Given the description of an element on the screen output the (x, y) to click on. 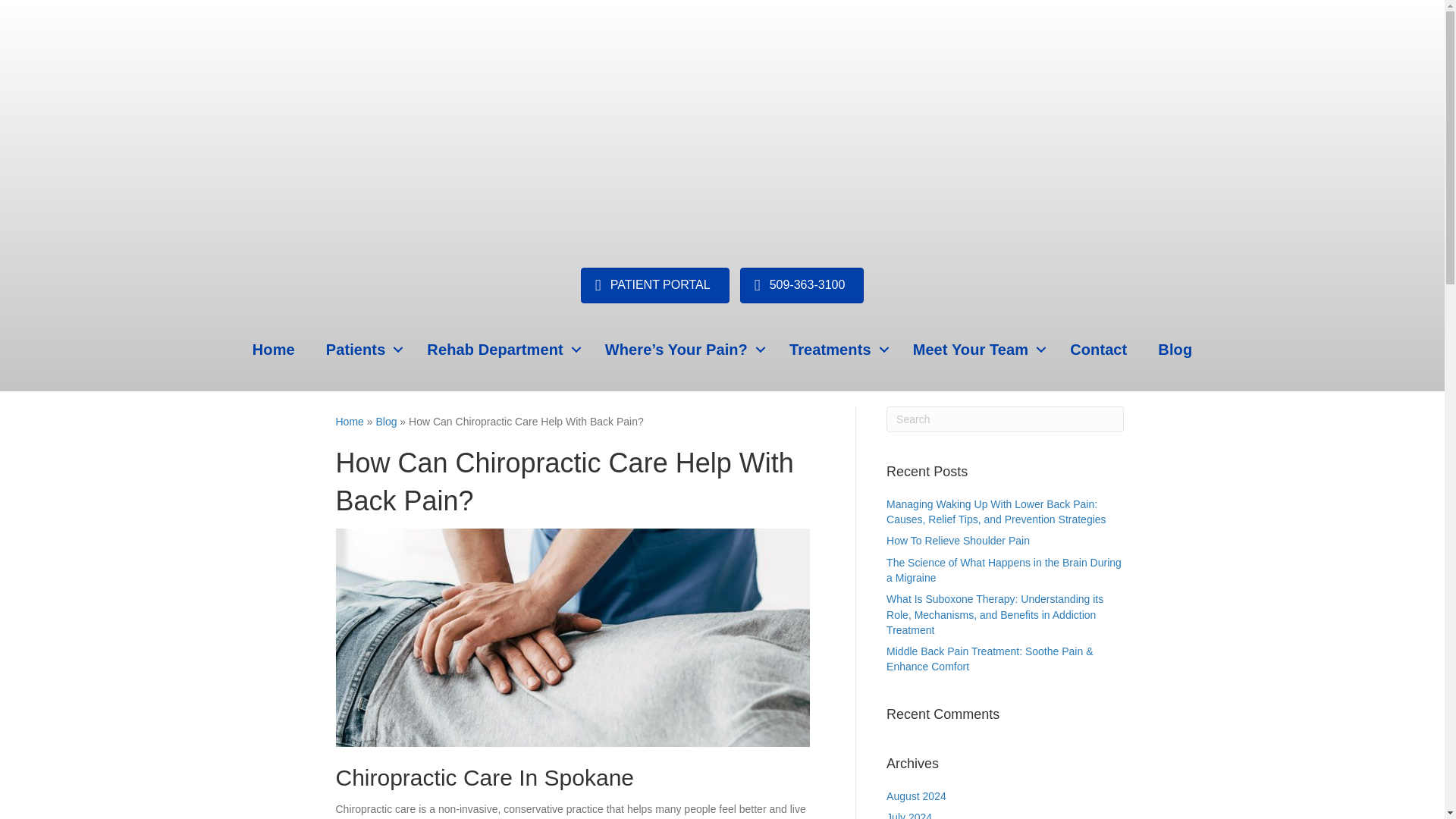
Home (273, 349)
Meet Your Team (976, 349)
Rehab Department (500, 349)
509-363-3100 (801, 285)
Treatments (835, 349)
PATIENT PORTAL (654, 285)
Patients (361, 349)
Type and press Enter to search. (1005, 419)
